Given the description of an element on the screen output the (x, y) to click on. 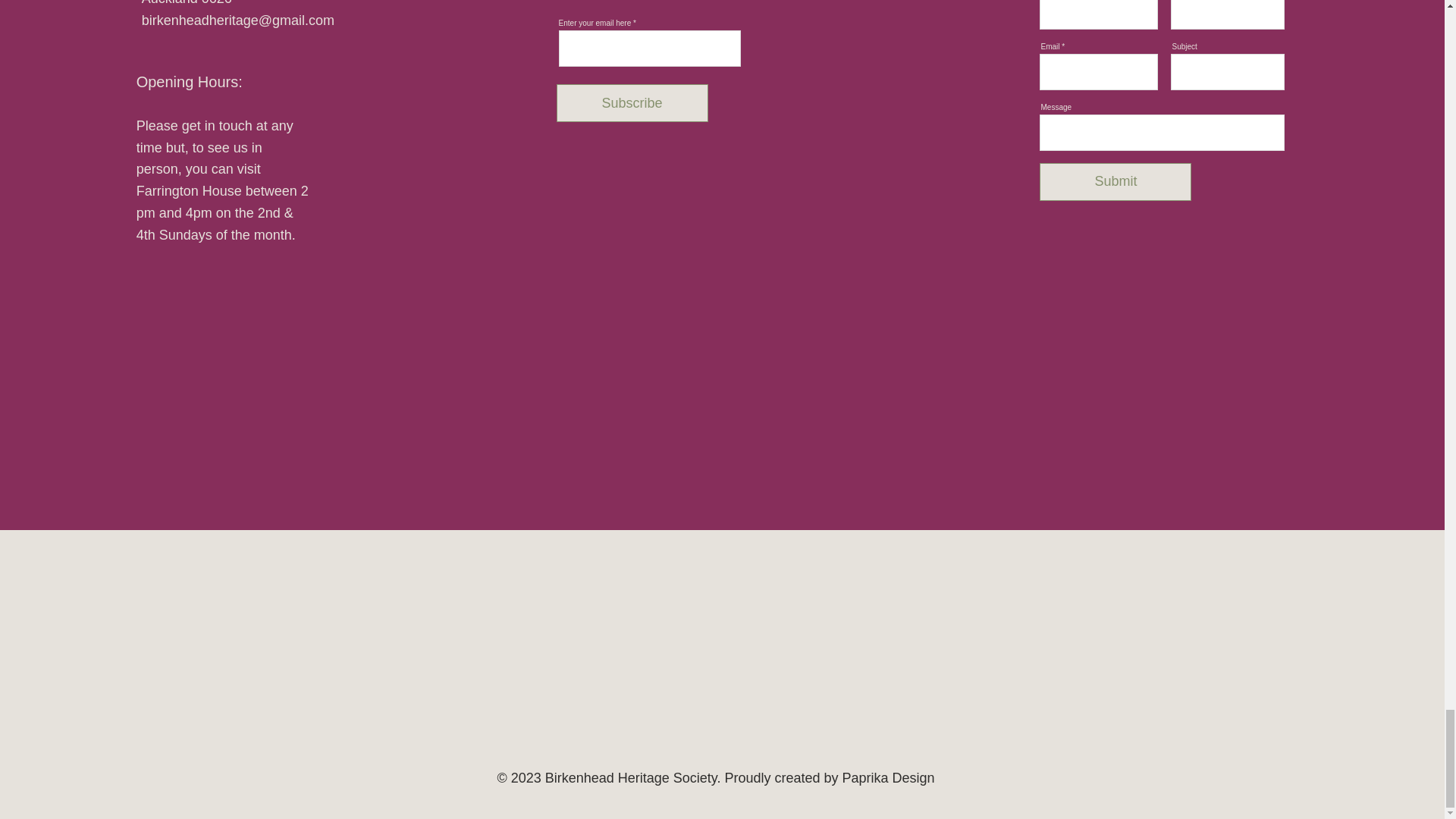
Subscribe (631, 103)
